Given the description of an element on the screen output the (x, y) to click on. 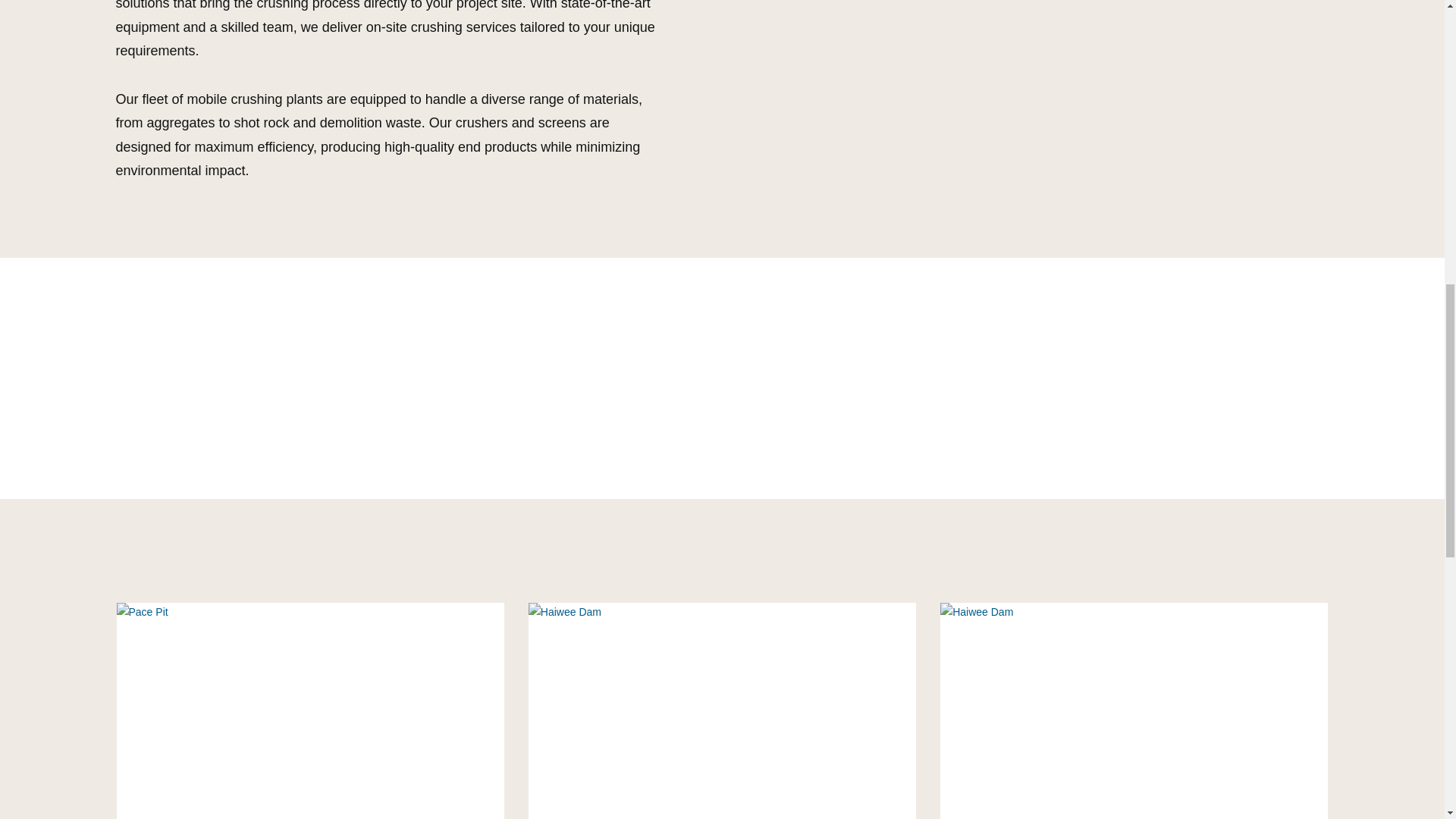
Durability Quarry (721, 710)
Pace Pit (309, 710)
Haiwee Dam (1133, 710)
